Given the description of an element on the screen output the (x, y) to click on. 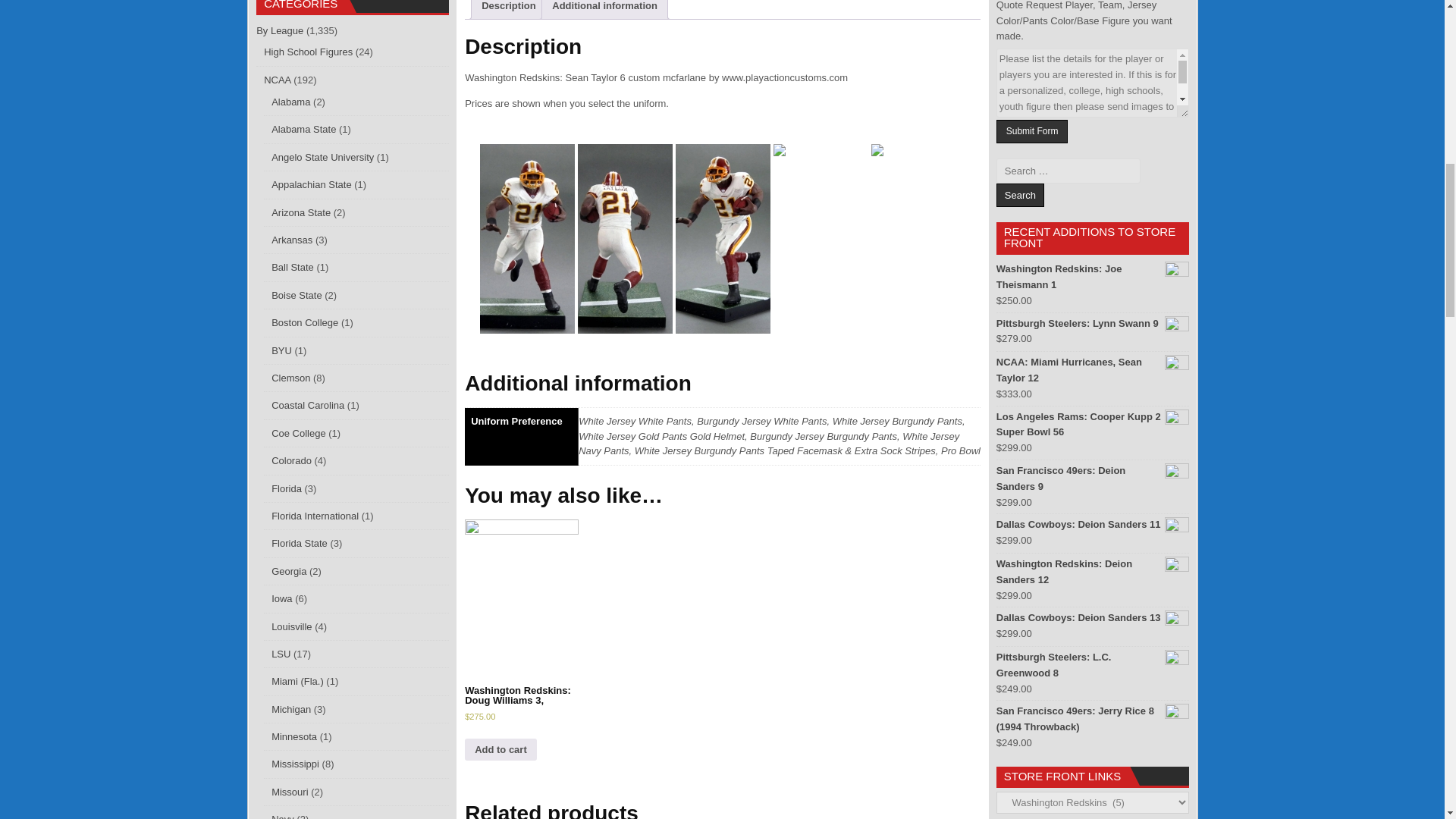
Search (1019, 195)
Search (1019, 195)
